Given the description of an element on the screen output the (x, y) to click on. 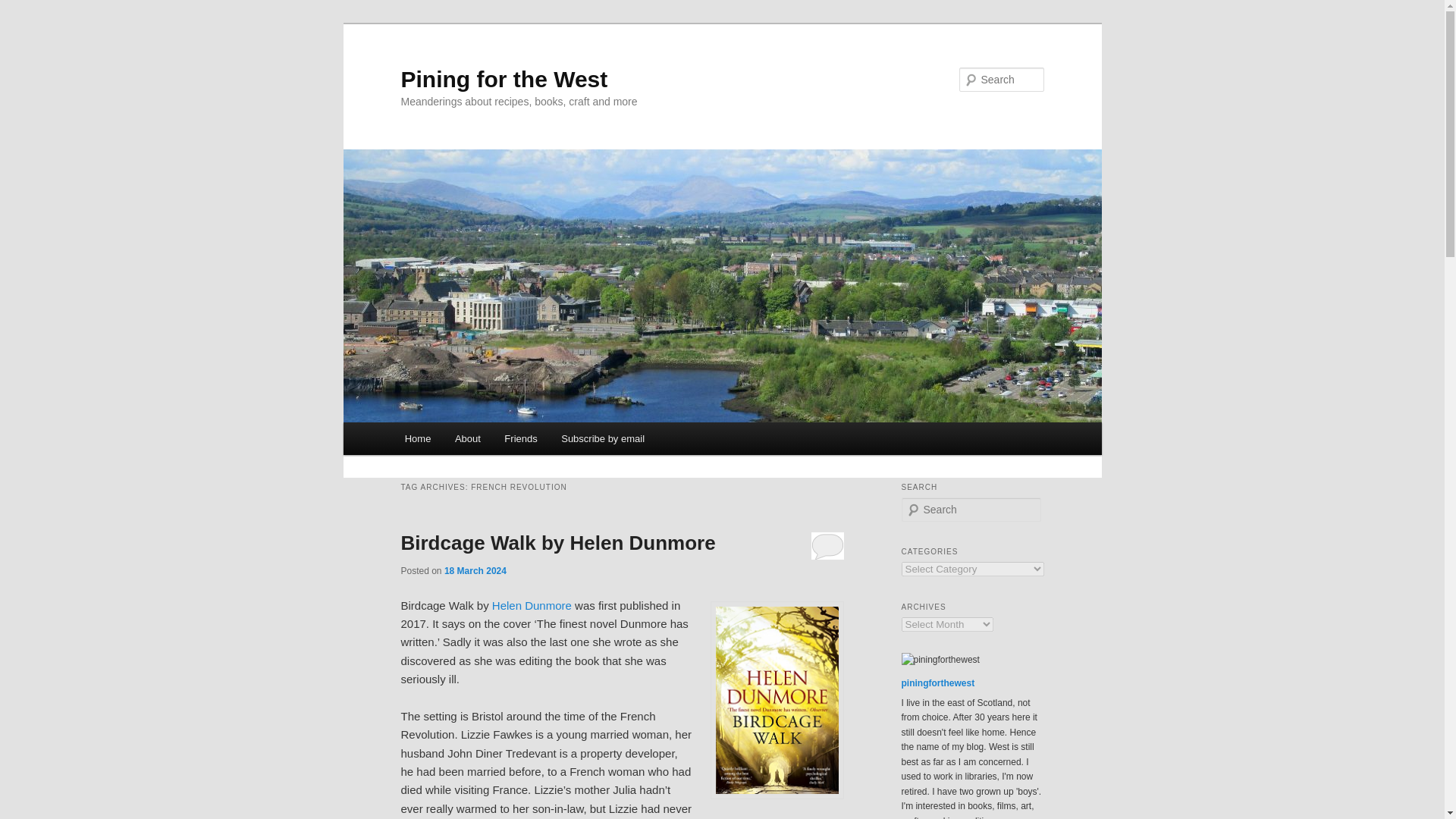
Home (417, 438)
Search (24, 8)
Friends (521, 438)
Birdcage Walk by Helen Dunmore (557, 542)
Helen Dunmore (532, 604)
About (467, 438)
Subscribe by email (602, 438)
Pining for the West (503, 78)
18 March 2024 (475, 570)
